Given the description of an element on the screen output the (x, y) to click on. 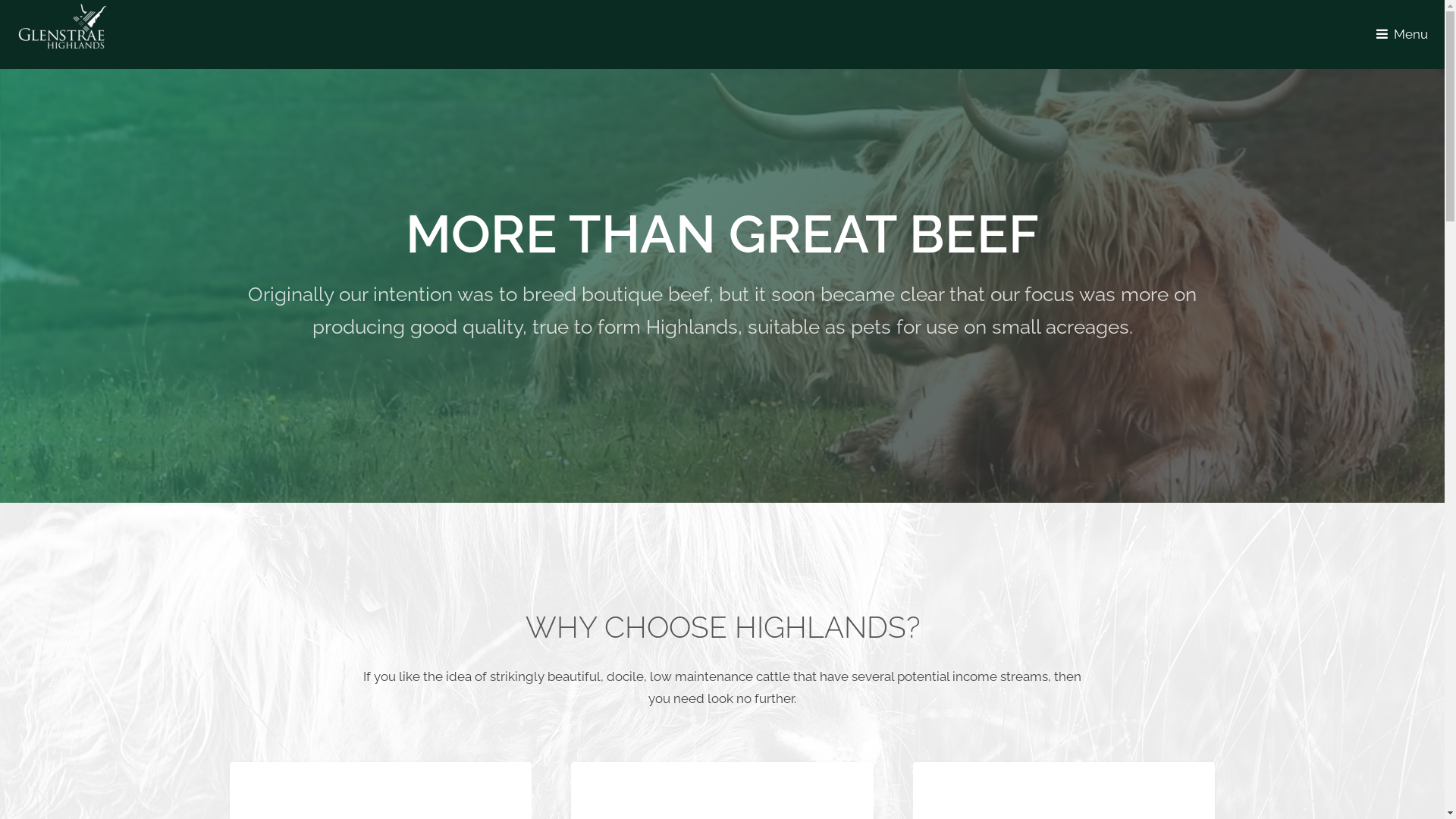
Menu Element type: text (1405, 33)
